Given the description of an element on the screen output the (x, y) to click on. 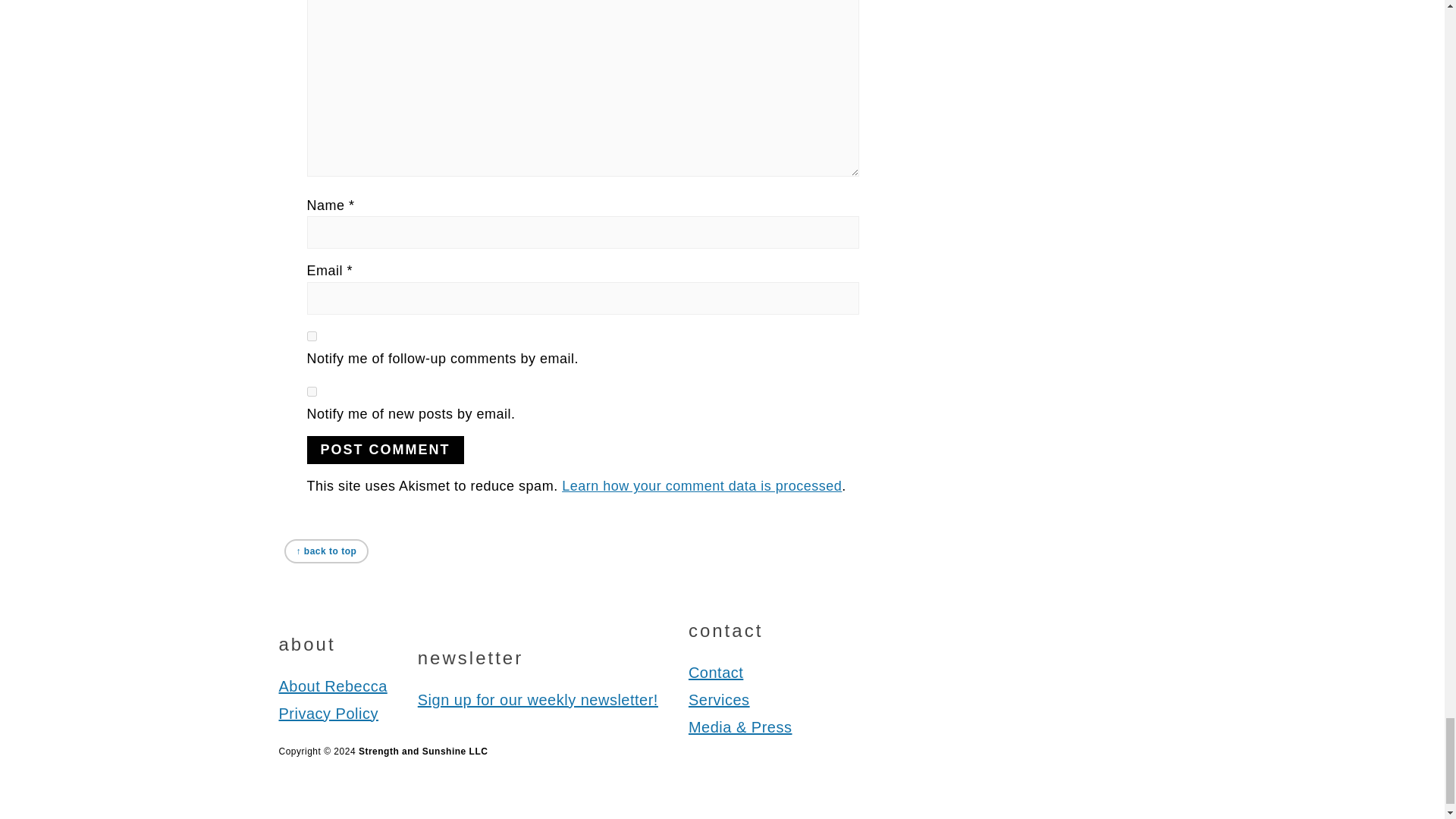
subscribe (310, 391)
Post Comment (384, 449)
subscribe (310, 336)
